Given the description of an element on the screen output the (x, y) to click on. 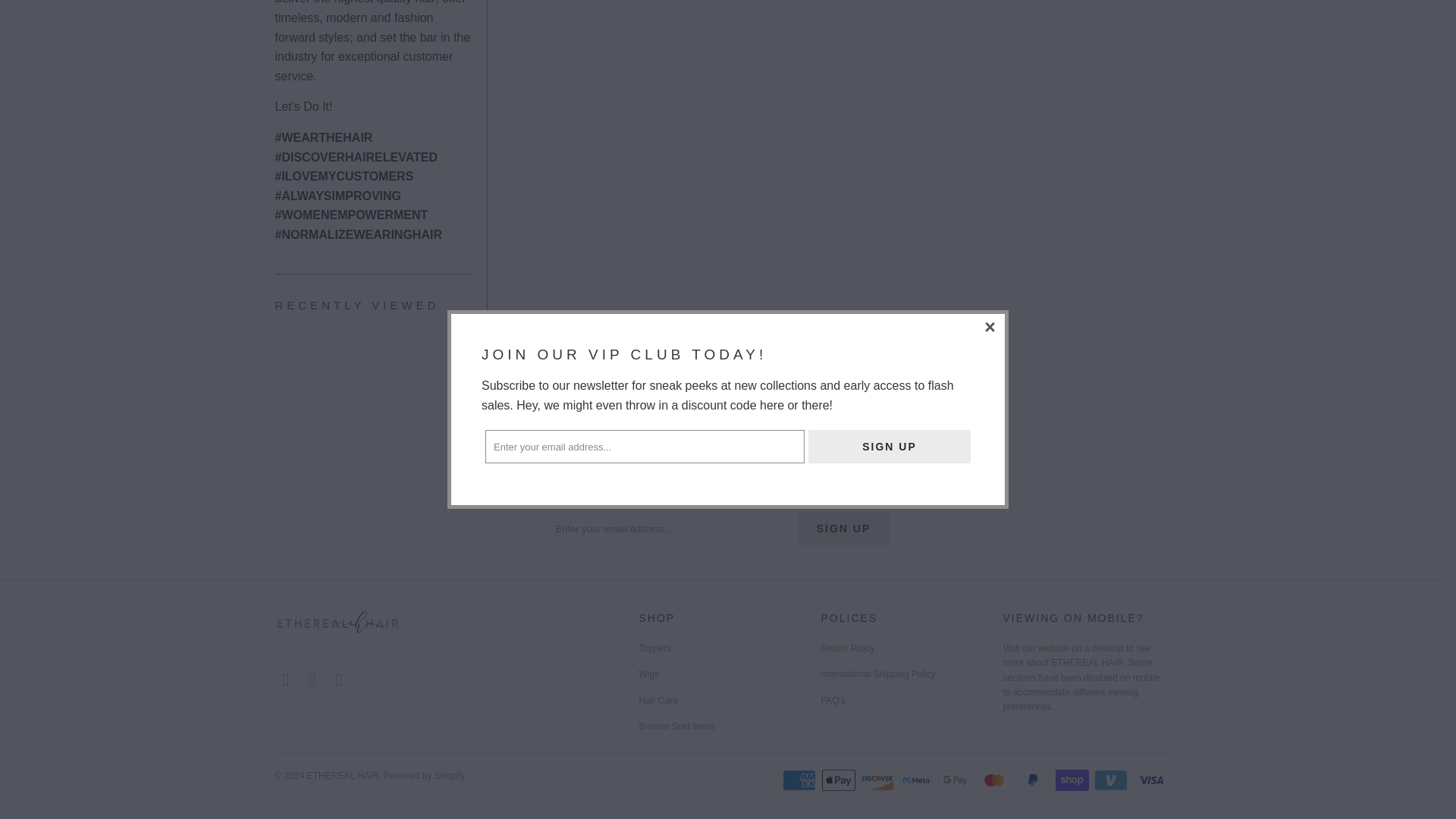
Apple Pay (840, 780)
Sign Up (889, 12)
Venmo (1112, 780)
Mastercard (994, 780)
Meta Pay (917, 780)
American Express (800, 780)
Visa (1150, 780)
Discover (878, 780)
Google Pay (957, 780)
PayPal (1034, 780)
Shop Pay (1073, 780)
